Given the description of an element on the screen output the (x, y) to click on. 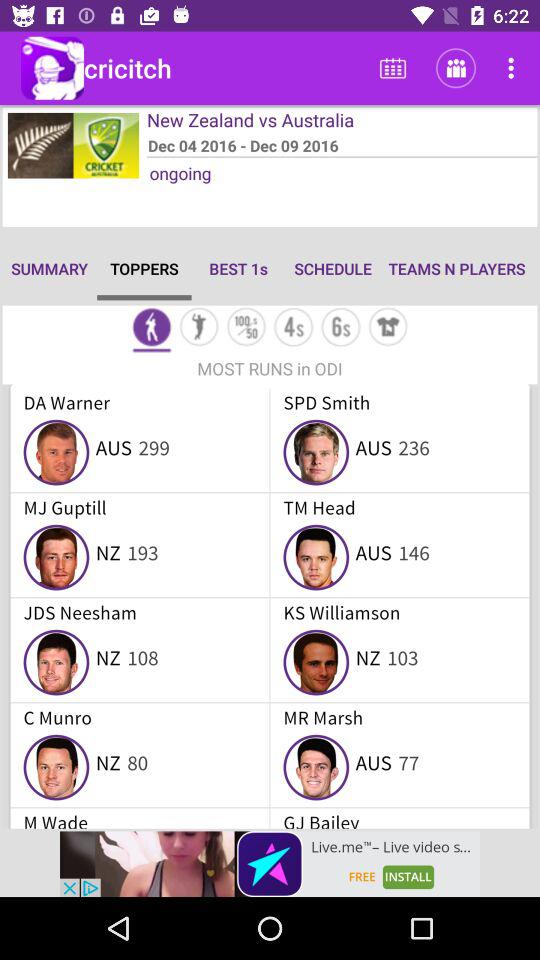
menu page (151, 328)
